Given the description of an element on the screen output the (x, y) to click on. 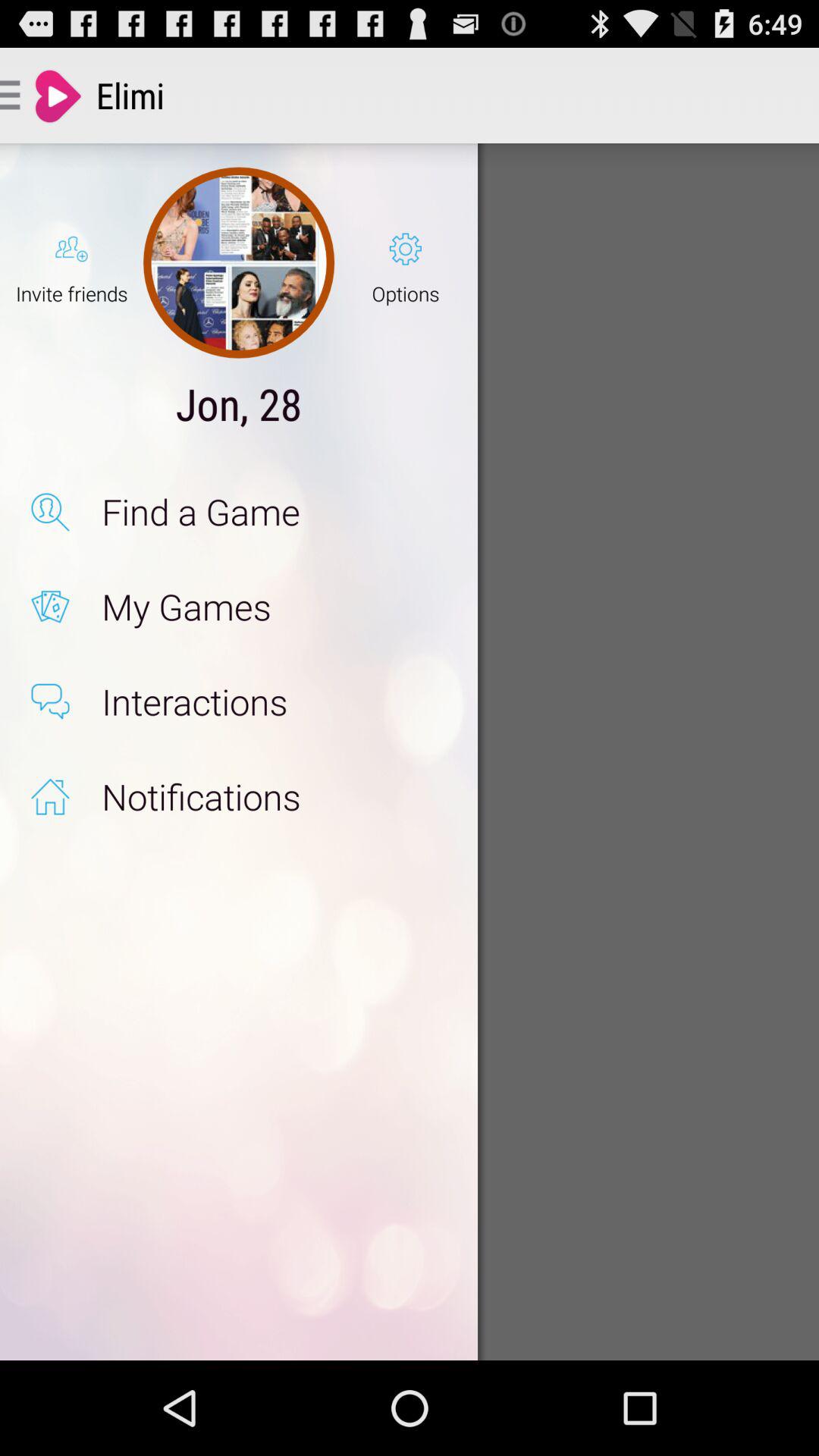
scroll to find a game icon (273, 511)
